Given the description of an element on the screen output the (x, y) to click on. 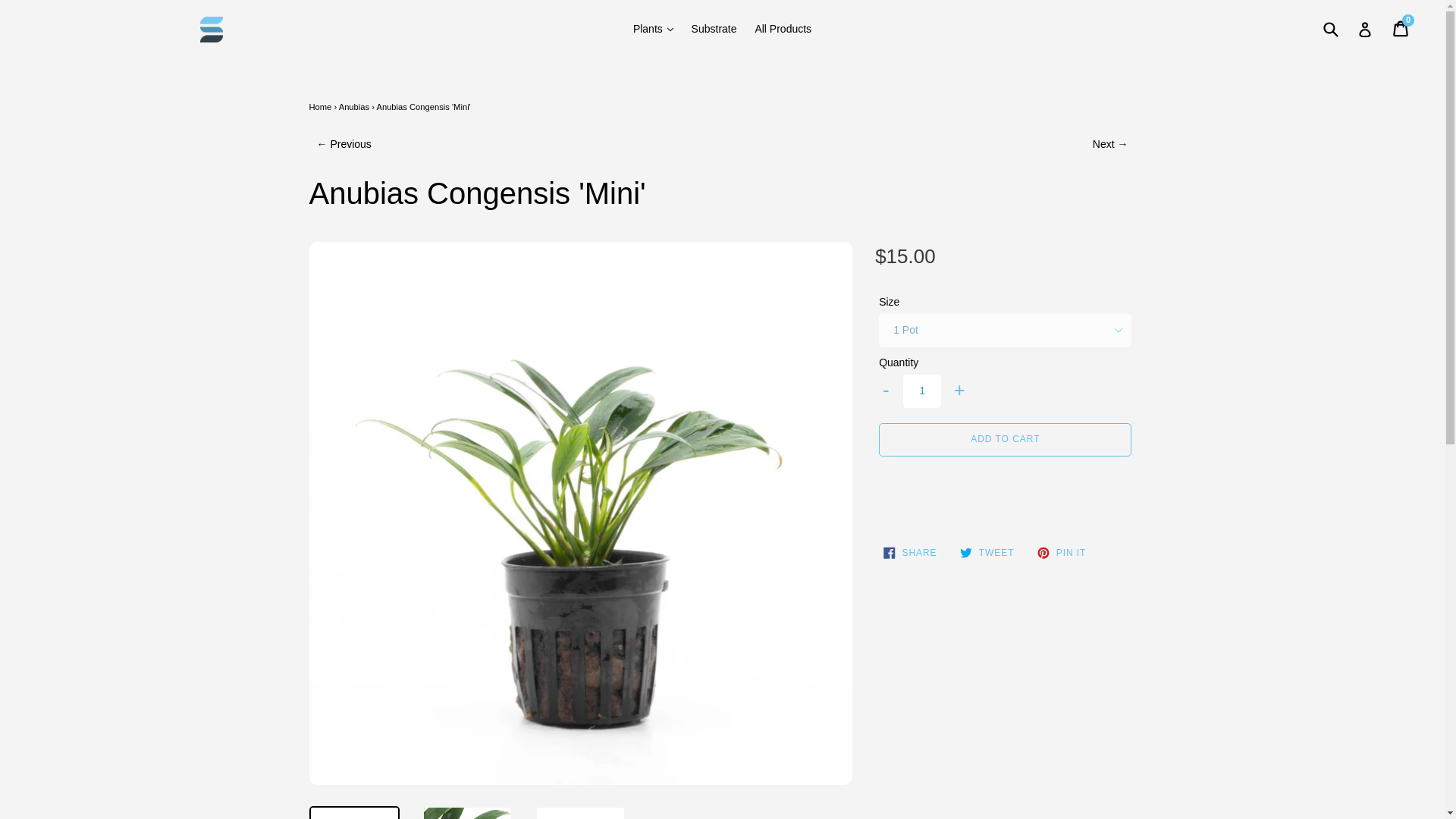
Substrate (714, 28)
Home (319, 106)
Tweet on Twitter (987, 552)
All Products (782, 28)
Pin on Pinterest (1061, 552)
Anubias (354, 106)
Share on Facebook (909, 552)
1 (921, 390)
Home (319, 106)
